Given the description of an element on the screen output the (x, y) to click on. 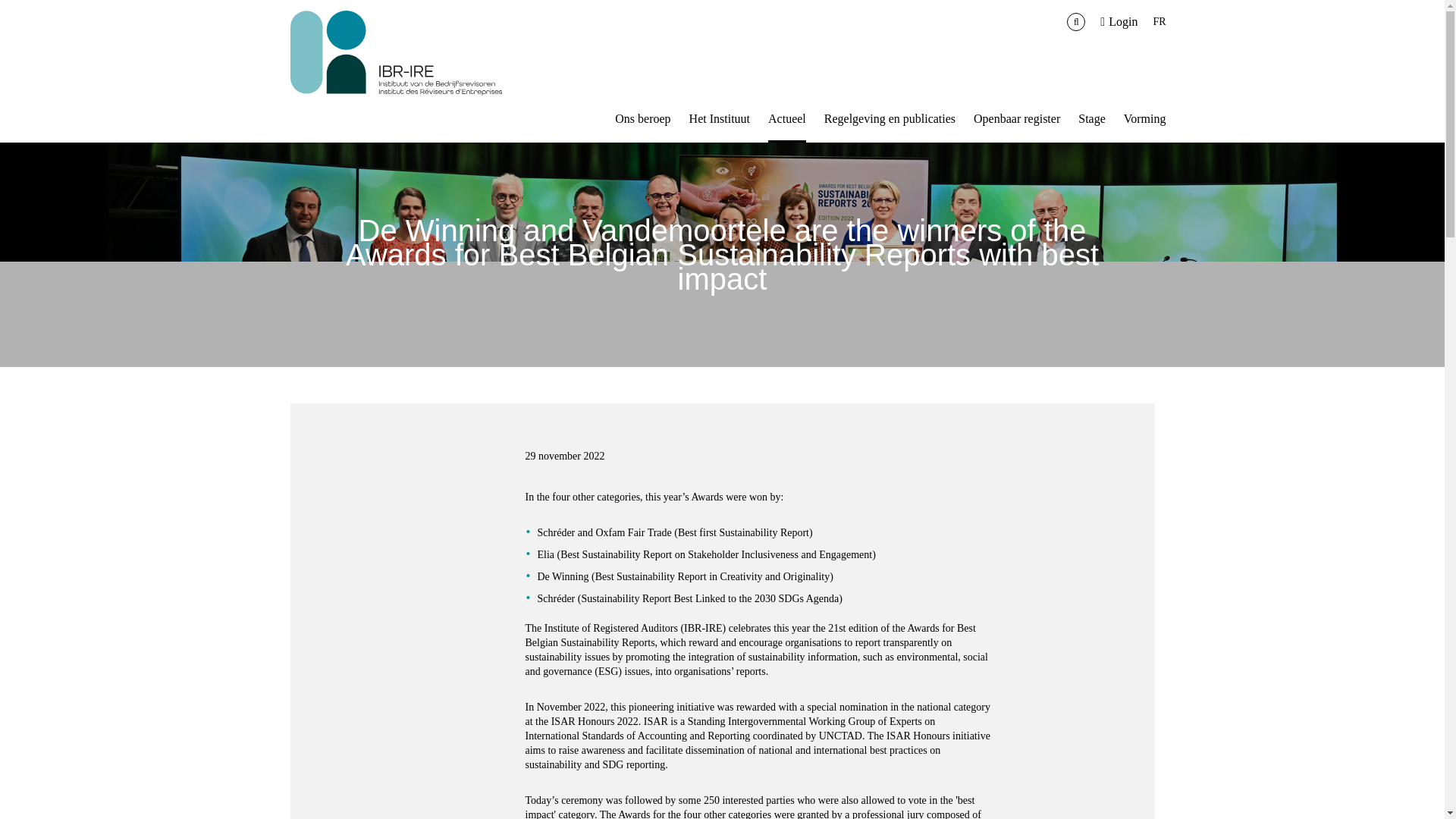
Regelgeving en publicaties (889, 118)
Het Instituut (718, 118)
Login (1118, 22)
Openbaar register (1016, 118)
Vorming (1145, 118)
Ons beroep (641, 118)
